Given the description of an element on the screen output the (x, y) to click on. 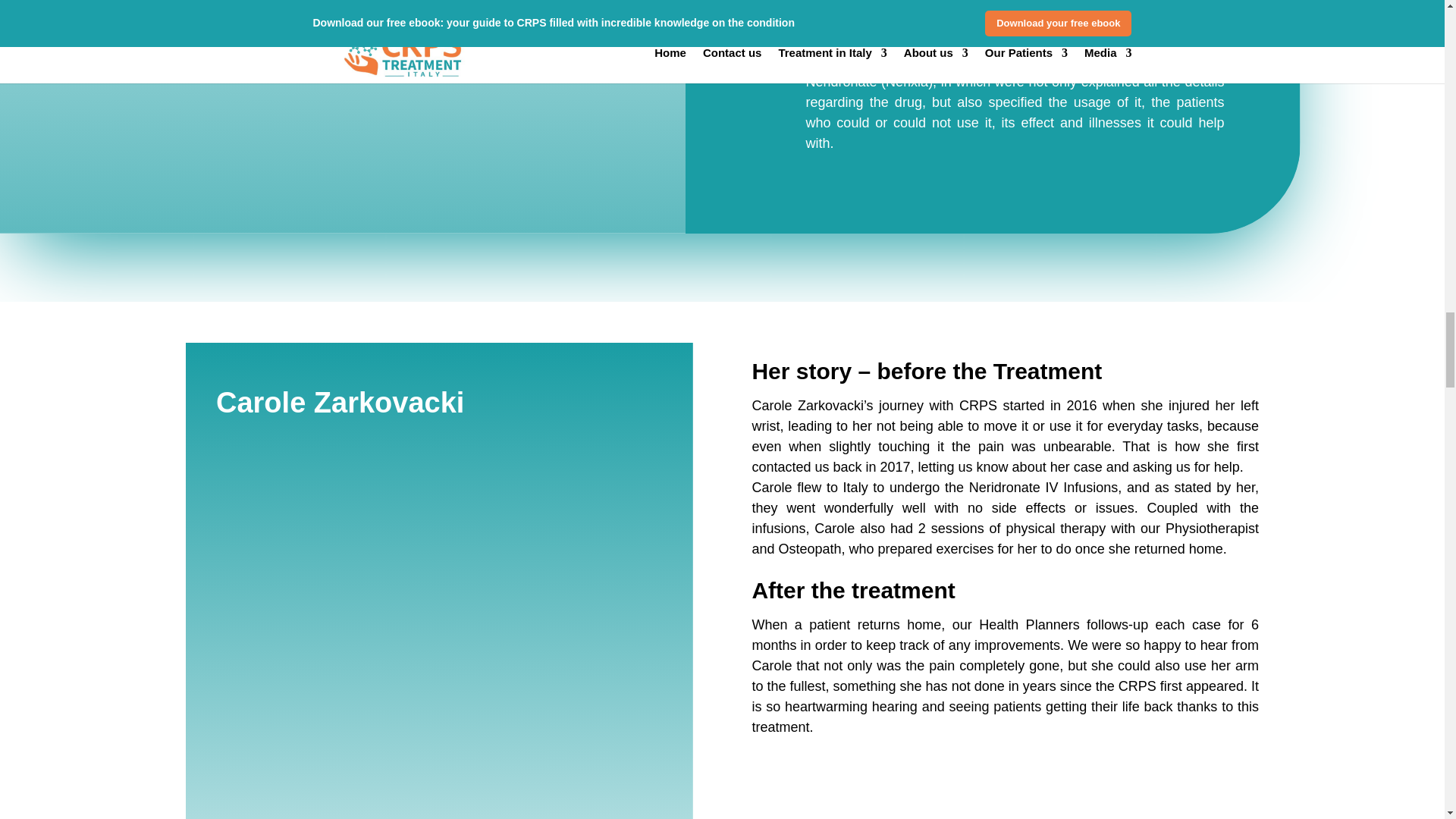
WATCH OUR SUCCESS STORIES (197, 17)
